Given the description of an element on the screen output the (x, y) to click on. 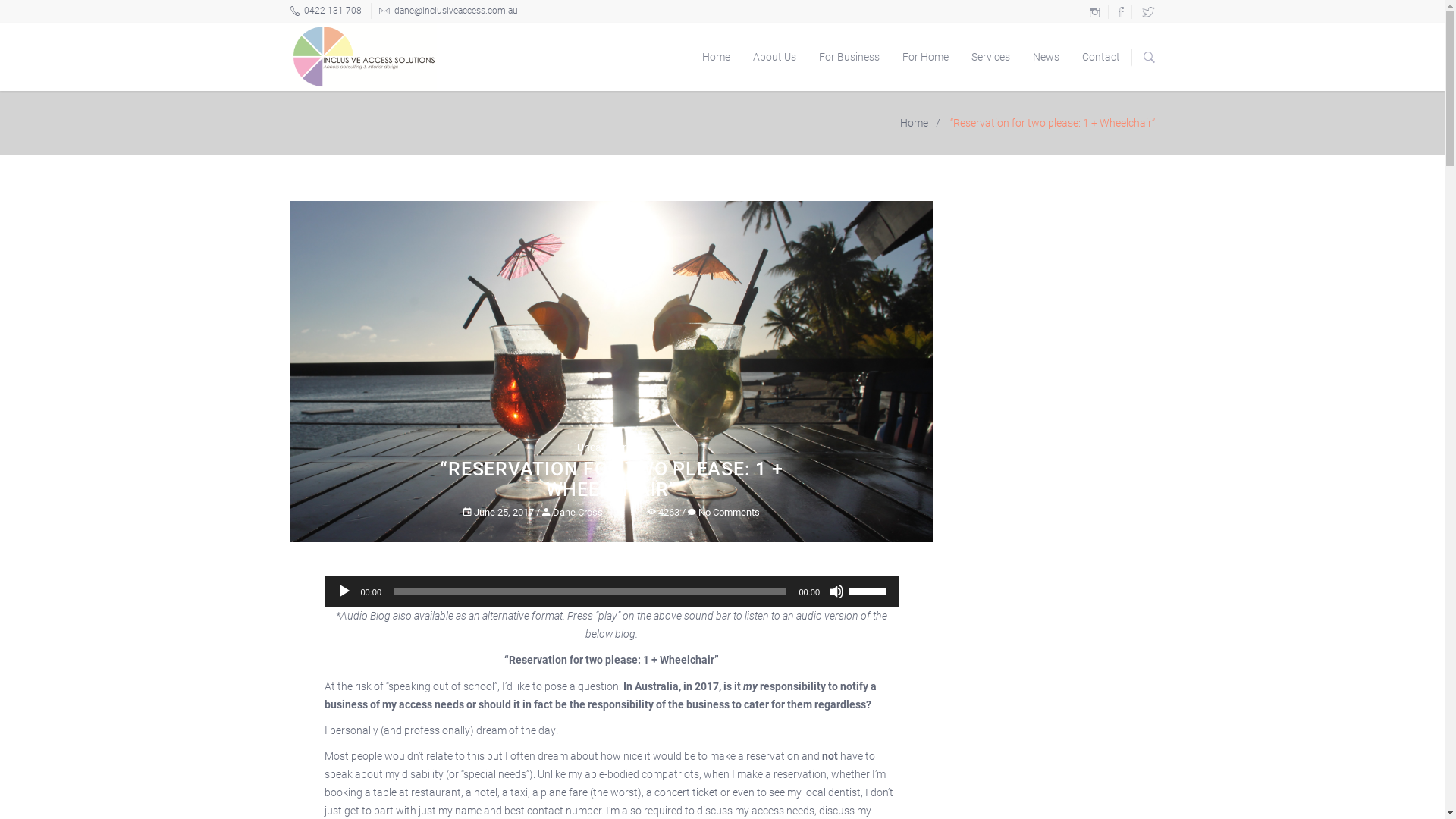
About Us Element type: text (774, 56)
dane@inclusiveaccess.com.au Element type: text (443, 10)
For Home Element type: text (924, 56)
Contact Element type: text (1100, 56)
Play Element type: hover (343, 591)
Home Element type: text (915, 122)
Use Up/Down Arrow keys to increase or decrease volume. Element type: text (869, 589)
For Business Element type: text (848, 56)
Mute Element type: hover (836, 591)
Dane Cross Element type: text (572, 511)
News Element type: text (1045, 56)
Uncategorized Element type: text (611, 447)
0422 131 708 Element type: text (324, 10)
Services Element type: text (990, 56)
Home Element type: text (715, 56)
